Given the description of an element on the screen output the (x, y) to click on. 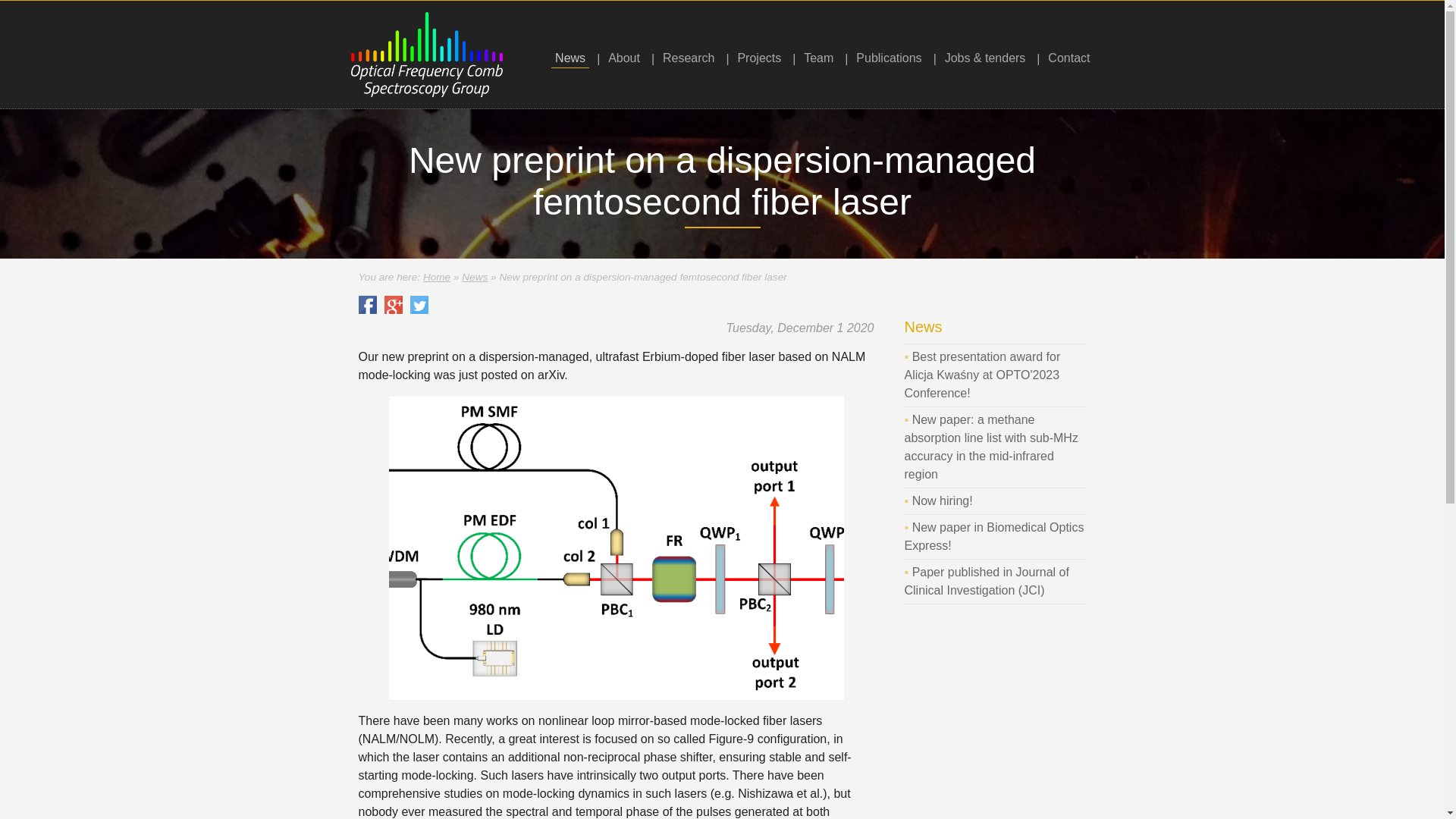
Team (818, 58)
Contact (1068, 58)
New paper in Biomedical Optics Express! (993, 536)
News (570, 58)
About (623, 58)
Publications (887, 58)
Home (436, 276)
Now hiring! (942, 500)
News (474, 276)
Research (688, 58)
Projects (758, 58)
